Given the description of an element on the screen output the (x, y) to click on. 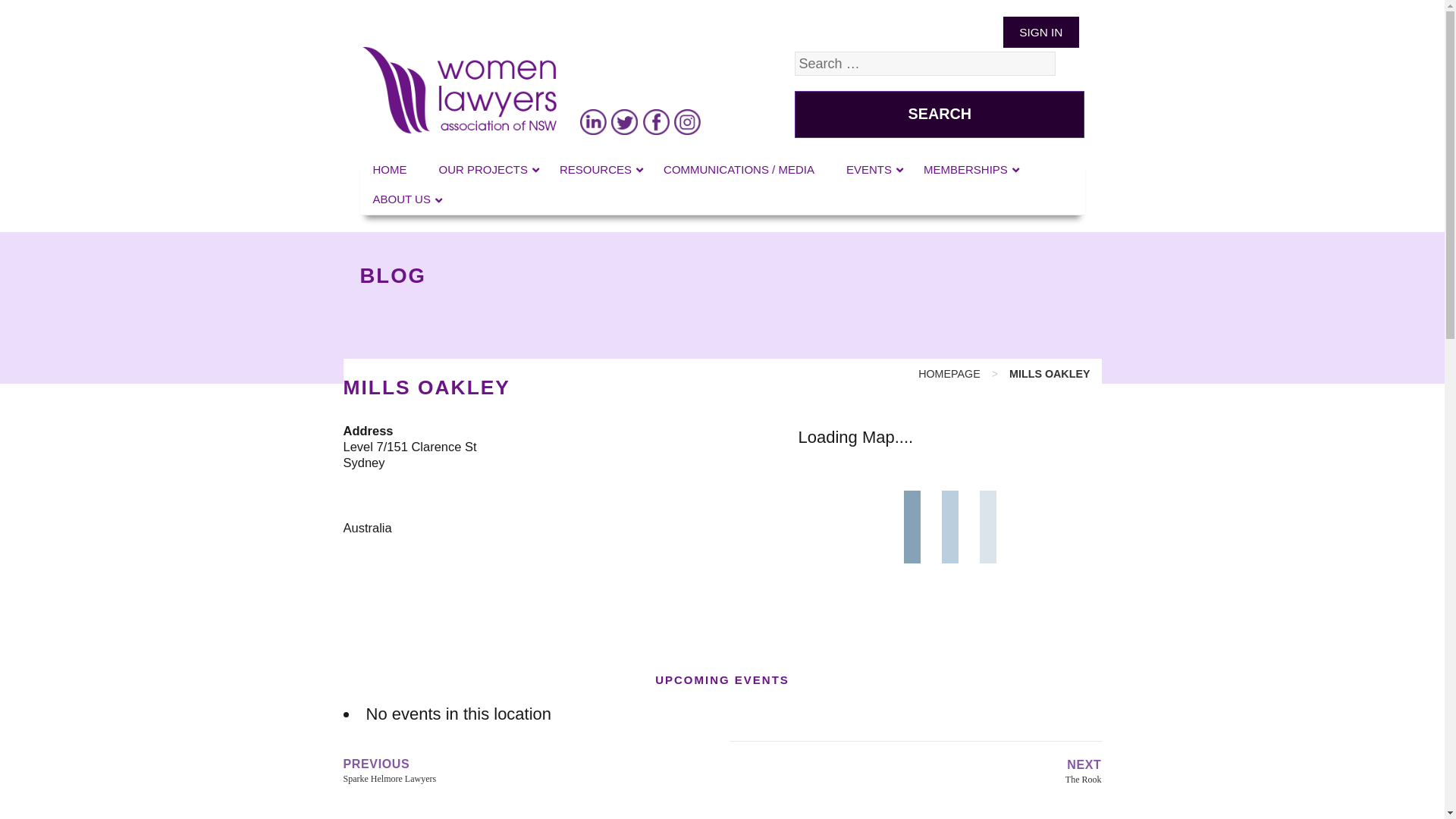
EVENTS Element type: text (871, 169)
PREVIOUS
Previous post:
Sparke Helmore Lawyers Element type: text (528, 770)
HOME Element type: text (392, 169)
ABOUT US Element type: text (403, 199)
NEXT
Next post:
The Rook Element type: text (915, 770)
WLANSW: FACEBOOK Element type: hover (655, 121)
MEMBERSHIPS Element type: text (968, 169)
OUR PROJECTS Element type: text (486, 169)
COMMUNICATIONS / MEDIA Element type: text (741, 169)
RESOURCES Element type: text (598, 169)
HOMEPAGE Element type: text (949, 373)
WLANSW: LINKED IN Element type: hover (592, 121)
Search for: Element type: hover (924, 63)
Search Element type: text (939, 114)
WLANSW: TWITTER Element type: hover (624, 121)
WLANSW: INSTAGRAM Element type: hover (687, 121)
